Given the description of an element on the screen output the (x, y) to click on. 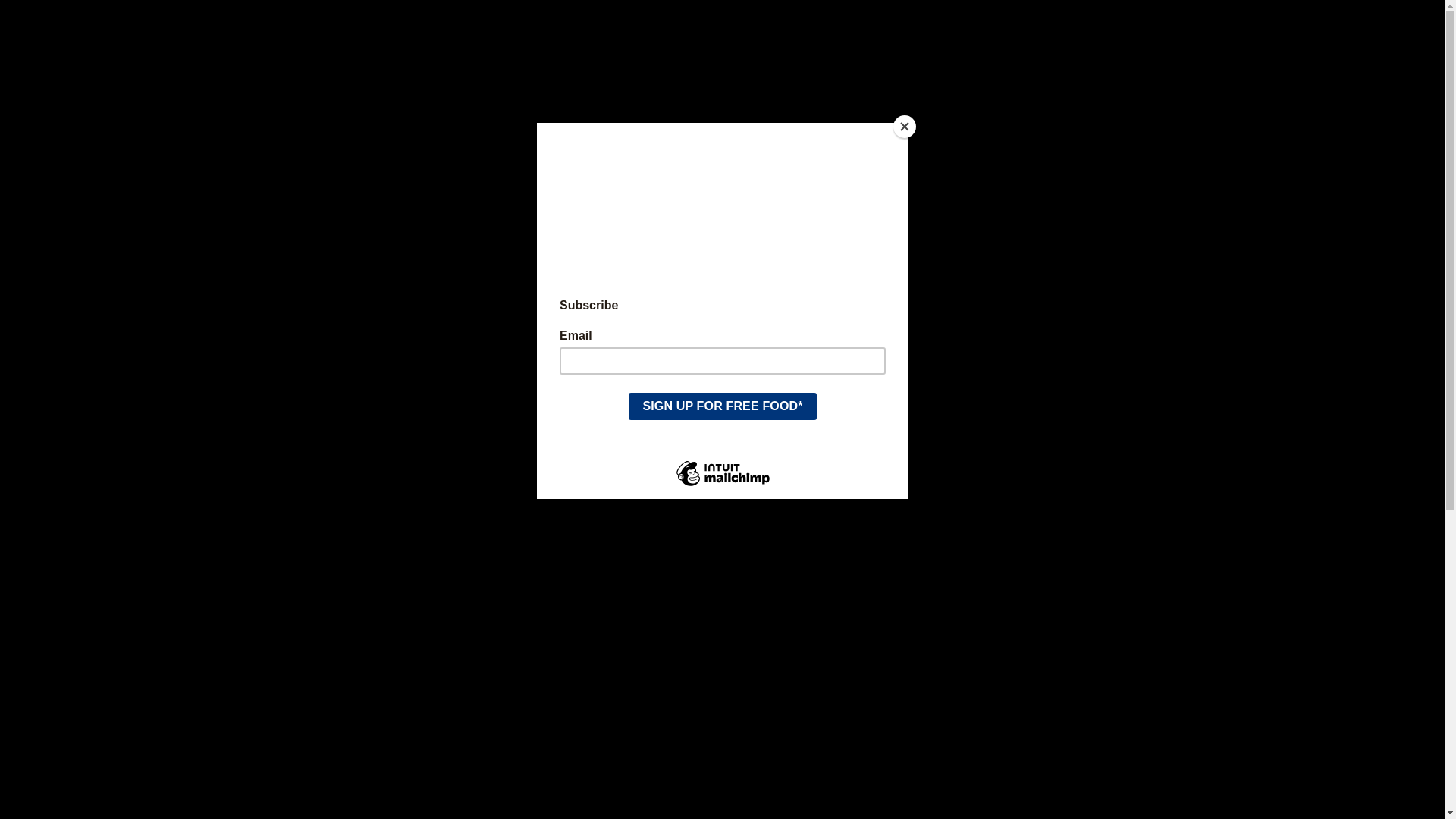
Log in Element type: text (1364, 204)
Phone Order Element type: text (559, 204)
Log in Element type: text (967, 204)
Order Online Element type: text (671, 204)
Submit Element type: text (1329, 204)
Menu Element type: text (474, 204)
Fresh Cut Chips Wholesale Element type: text (832, 204)
GET VINNY'S DELIVERED Element type: text (722, 16)
